Given the description of an element on the screen output the (x, y) to click on. 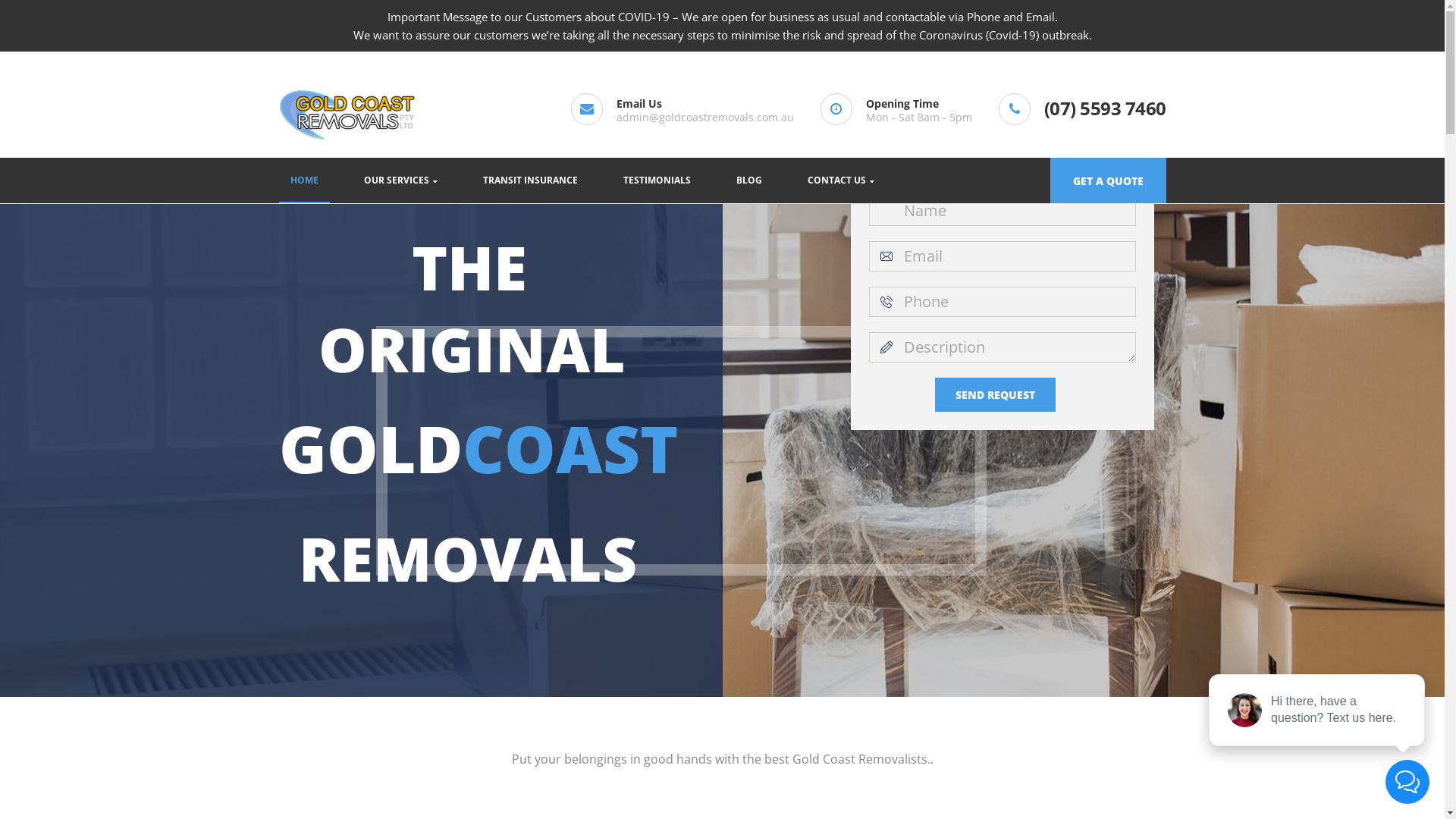
TRANSIT INSURANCE Element type: text (530, 180)
Gold Coast Container Storage Element type: text (364, 655)
Local Web Advisors Element type: text (836, 795)
HOME Element type: text (304, 180)
OUR SERVICES Element type: text (399, 180)
admin@goldcoastremovals.com.au Element type: text (704, 116)
Home Element type: hover (681, 450)
Interstate Backloading Element type: text (343, 694)
Gold Coast Container Moves & Storage Element type: text (390, 597)
GET A QUOTE Element type: text (1107, 180)
CONTACT US! Element type: text (943, 712)
BLOG Element type: text (748, 180)
Moving From Hi Rise Apartments Element type: text (373, 616)
Send Request Element type: text (994, 394)
Gold Coast Movers & Packers Element type: text (363, 675)
Gold Coast Office Moves Element type: text (348, 636)
CONTACT US Element type: text (840, 180)
TESTIMONIALS Element type: text (656, 180)
(07) 5593 7460 Element type: text (1104, 107)
